Given the description of an element on the screen output the (x, y) to click on. 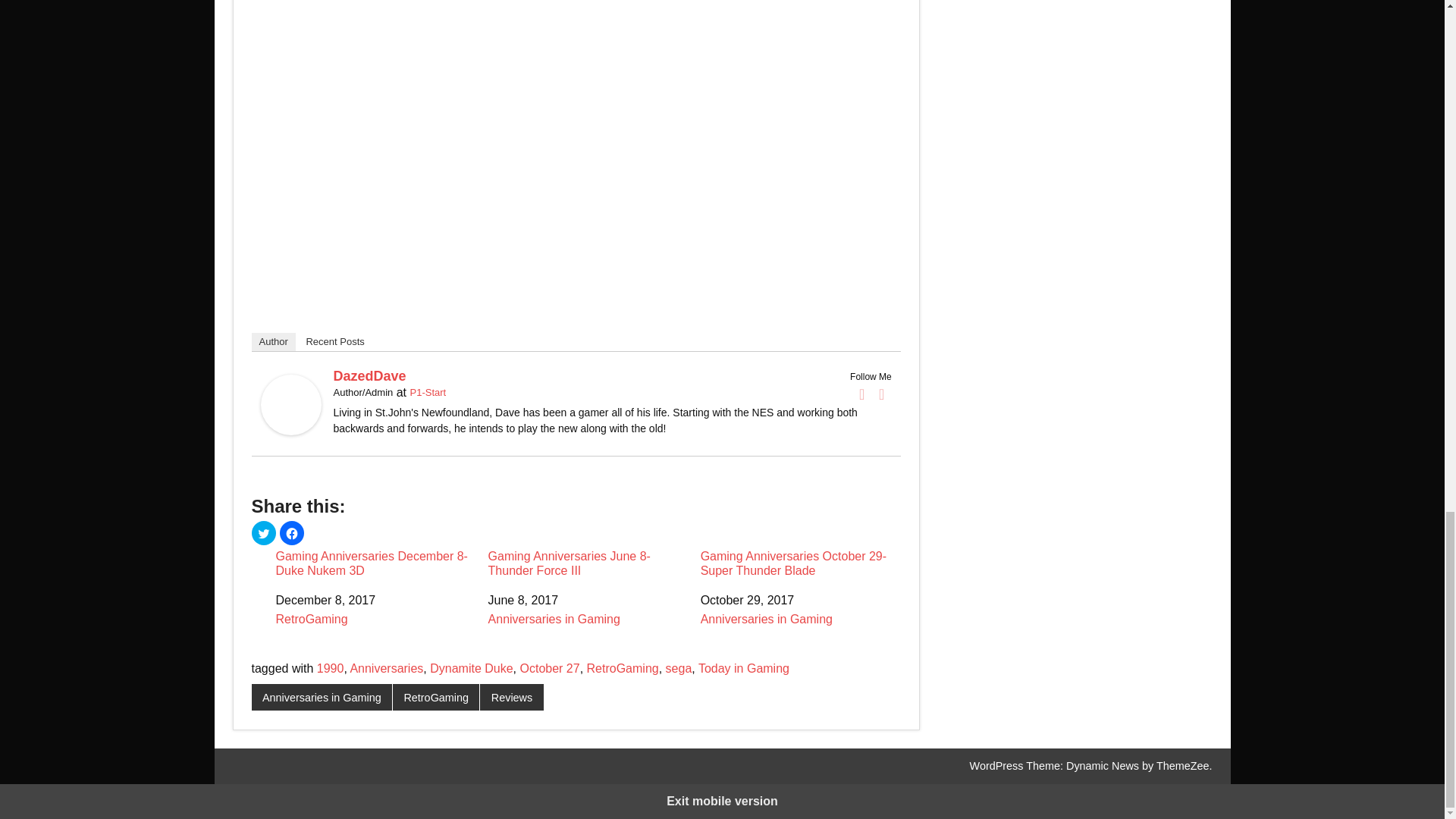
Dynamite Duke (470, 667)
DazedDave (290, 431)
P1-Start (427, 392)
1990 (330, 667)
Click to share on Twitter (263, 532)
Click to share on Facebook (290, 532)
Recent Posts (334, 341)
RetroGaming (622, 667)
Anniversaries in Gaming (553, 618)
Gaming Anniversaries October 29- Super Thunder Blade (800, 563)
